Given the description of an element on the screen output the (x, y) to click on. 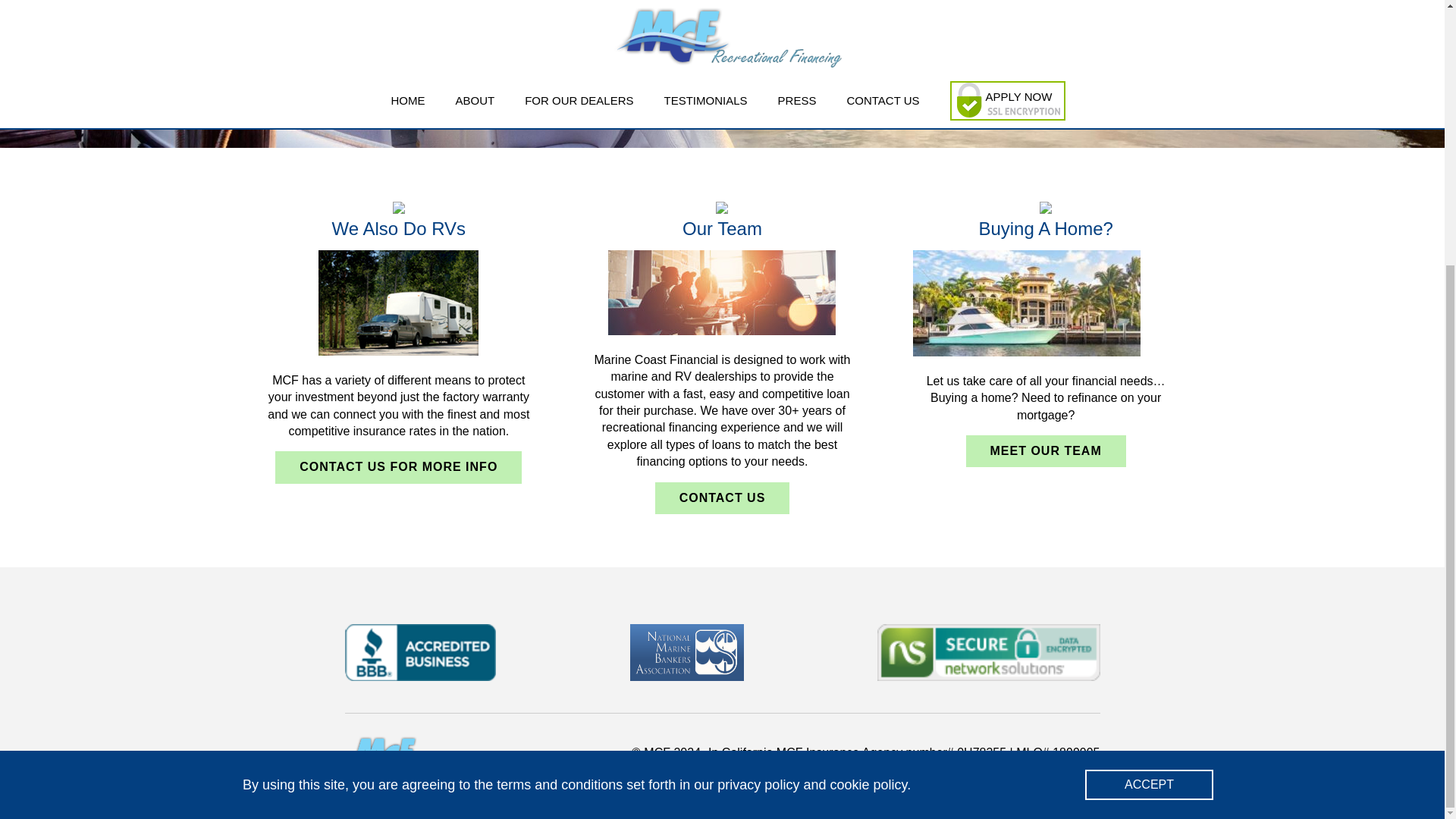
CONTACT US (722, 498)
ACCEPT (1148, 399)
MEET OUR TEAM (1045, 450)
CONTACT US FOR MORE INFO (398, 467)
